Given the description of an element on the screen output the (x, y) to click on. 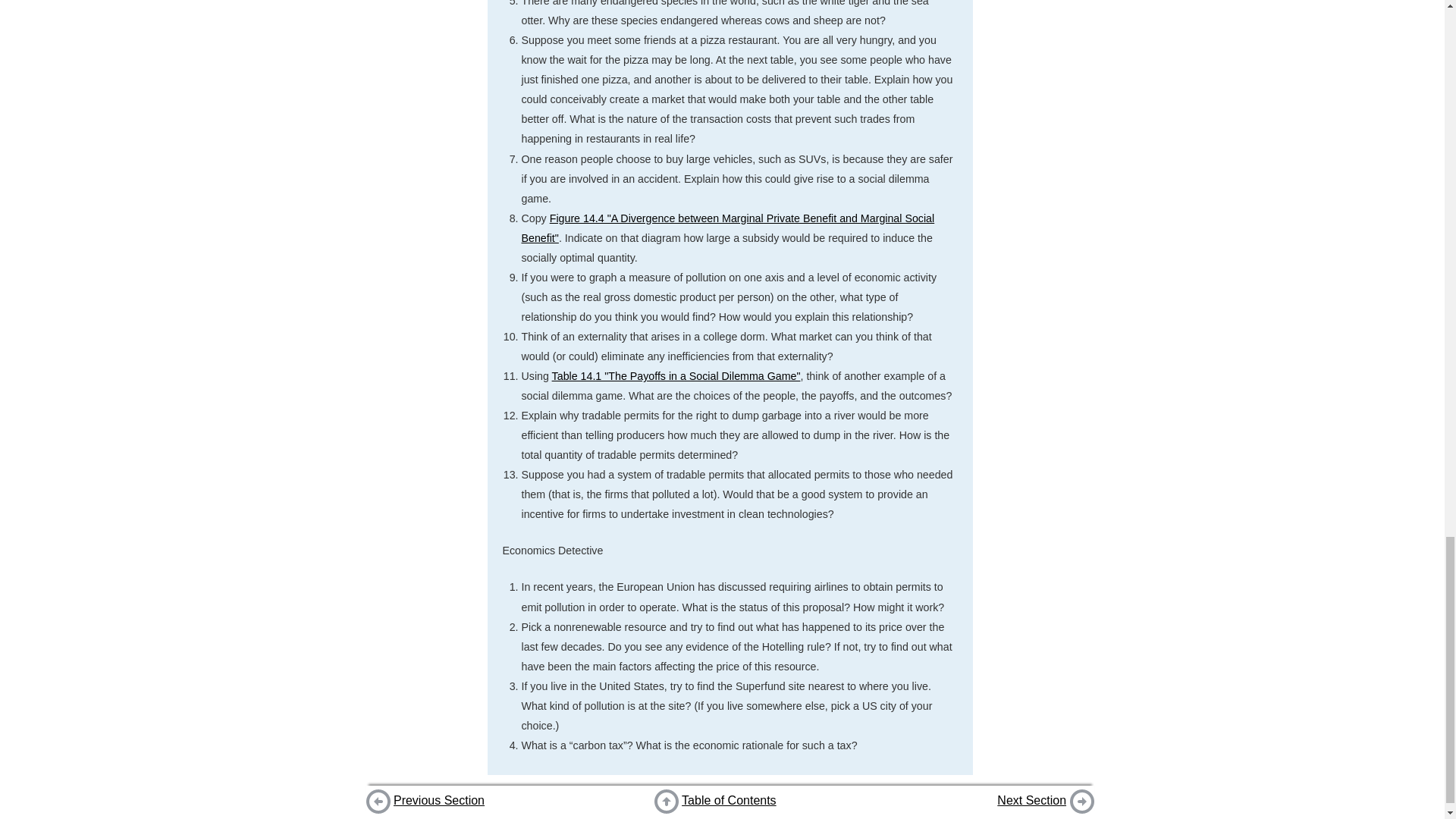
Table 14.1 "The Payoffs in a Social Dilemma Game" (675, 376)
Previous Section (438, 799)
Next Section (1031, 799)
Table of Contents (728, 799)
